Given the description of an element on the screen output the (x, y) to click on. 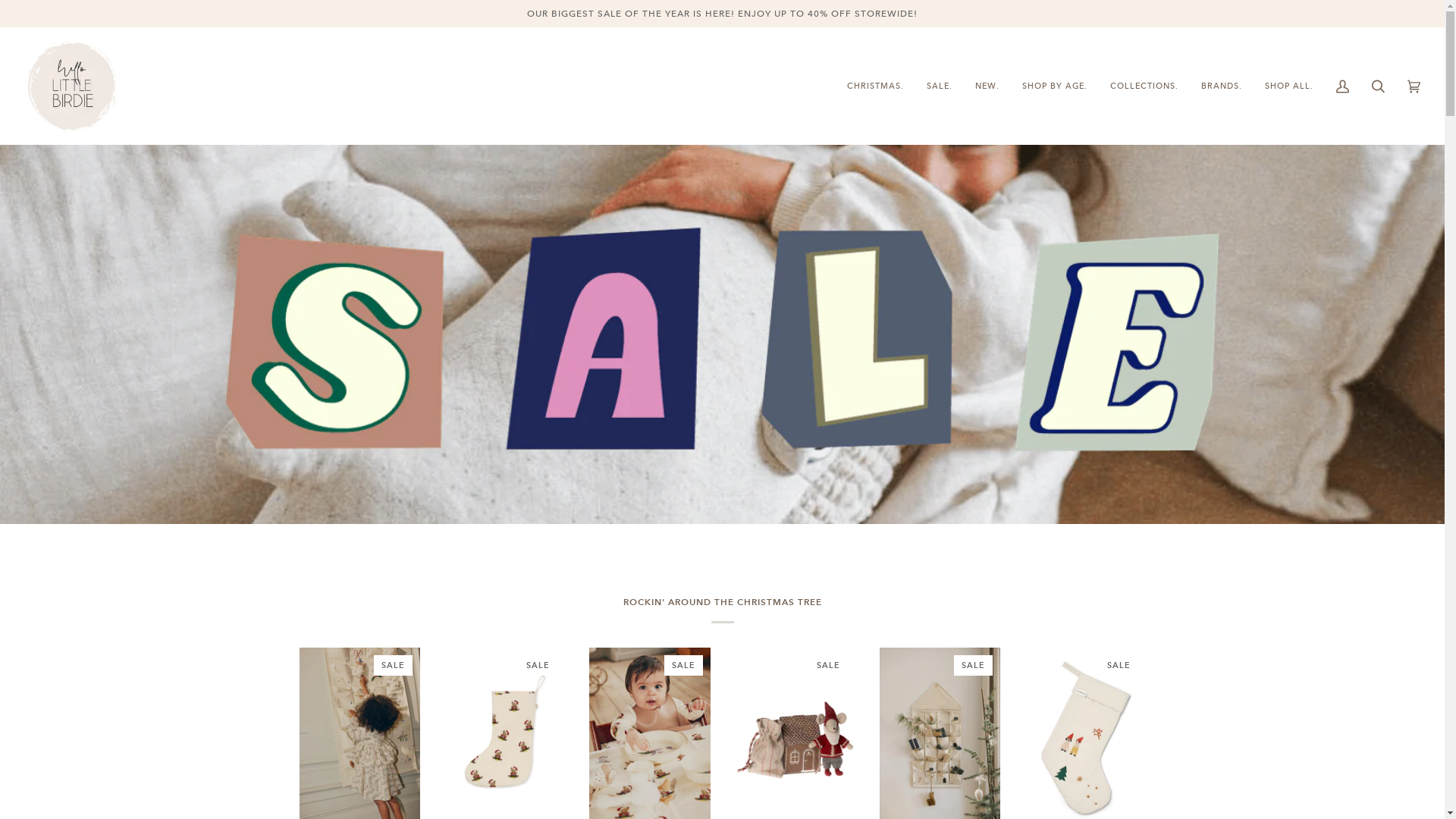
SHOP ALL. Element type: text (1288, 85)
Cart
(0) Element type: text (1413, 85)
SHOP BY AGE. Element type: text (1054, 85)
BRANDS. Element type: text (1221, 85)
NEW. Element type: text (986, 85)
Search Element type: text (1378, 85)
My Account Element type: text (1342, 85)
COLLECTIONS. Element type: text (1143, 85)
SALE. Element type: text (939, 85)
CHRISTMAS. Element type: text (875, 85)
